Given the description of an element on the screen output the (x, y) to click on. 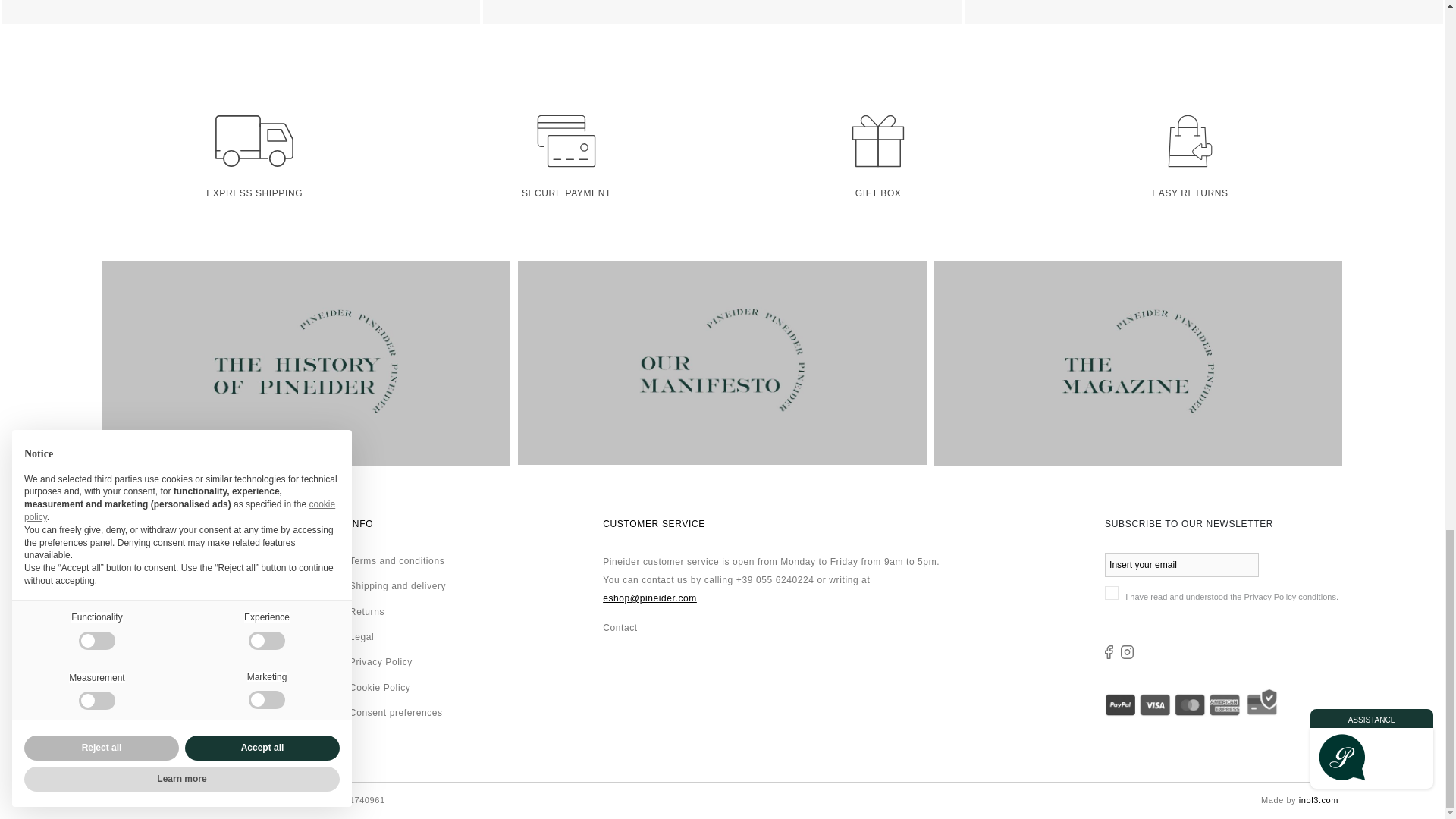
1 (1111, 592)
